Given the description of an element on the screen output the (x, y) to click on. 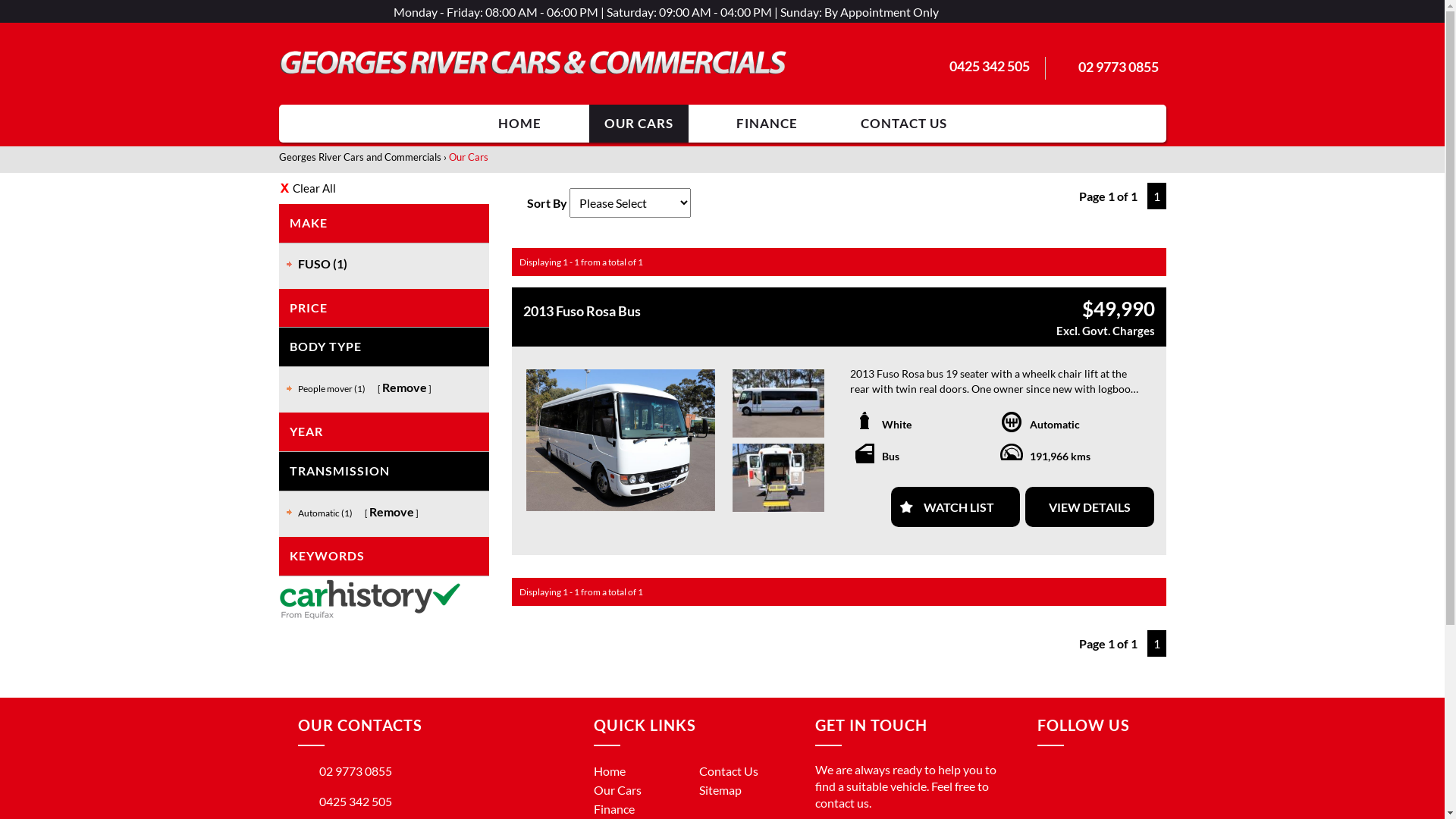
0425 342 505 Element type: text (344, 800)
Home Element type: text (608, 770)
Our Cars Element type: text (616, 789)
VIEW DETAILS Element type: text (1089, 506)
Sitemap Element type: text (720, 789)
2013-Fuso-Rosa Element type: hover (620, 440)
Our Cars Element type: text (468, 156)
2013-Fuso-Rosa Element type: hover (778, 477)
OUR CARS Element type: text (637, 123)
$49,990 Element type: text (1117, 308)
WATCH LIST Element type: text (955, 506)
HOME Element type: text (518, 123)
CONTACT US Element type: text (902, 123)
Remove Element type: text (390, 511)
02 9773 0855 Element type: text (344, 770)
2013 Fuso Rosa Bus Element type: text (757, 310)
Finance Element type: text (613, 808)
Georges River Cars and Commercials Element type: text (360, 156)
Remove Element type: text (404, 386)
02 9773 0855 Element type: text (1118, 66)
FUSO (1) Element type: text (321, 263)
FINANCE Element type: text (766, 123)
0425 342 505 Element type: text (989, 65)
Clear All Element type: text (384, 188)
1 Element type: text (1155, 195)
Contact Us Element type: text (728, 770)
1 Element type: text (1155, 643)
2013-Fuso-Rosa Element type: hover (778, 403)
